Given the description of an element on the screen output the (x, y) to click on. 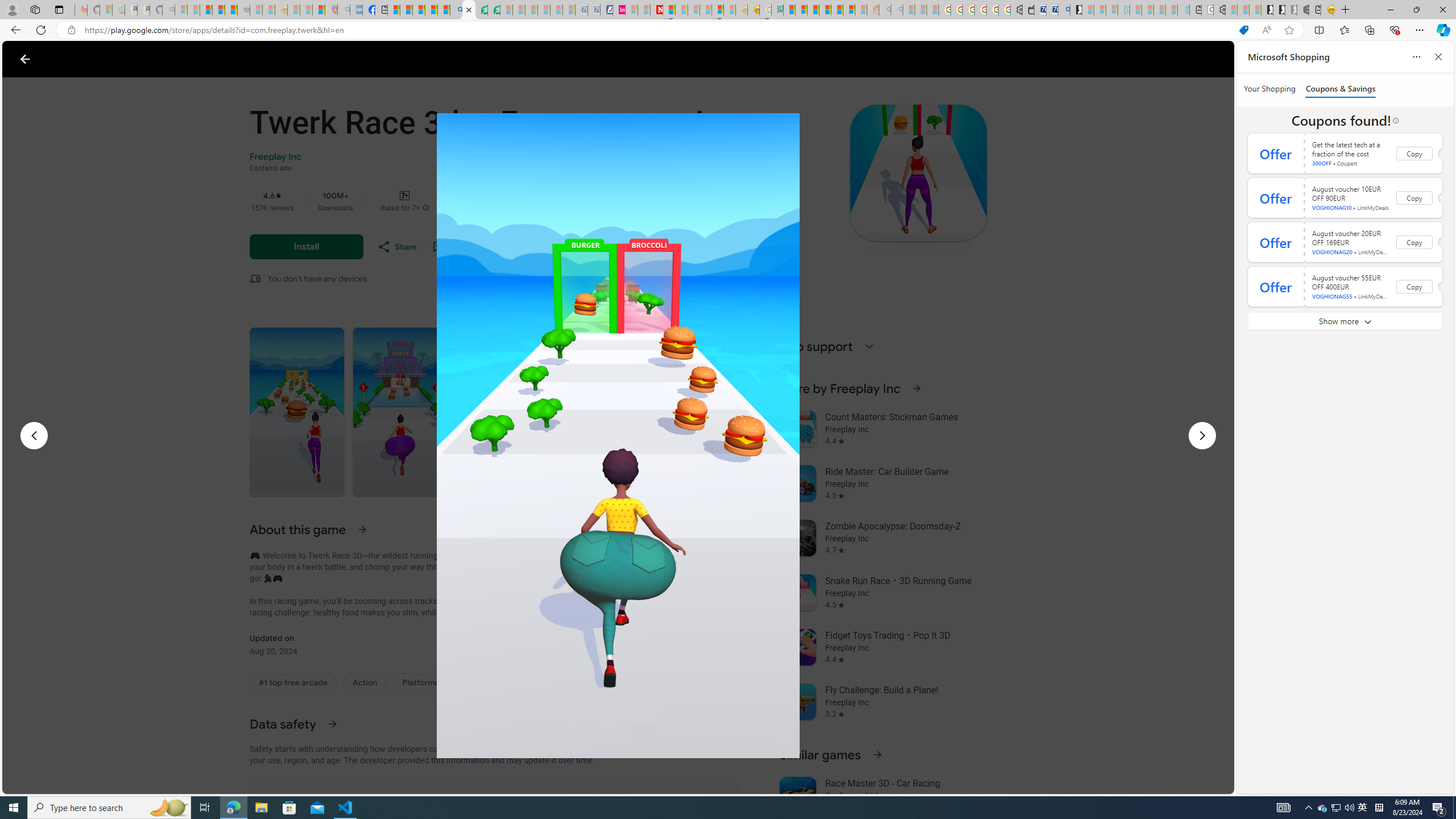
See more information on Data safety (332, 723)
Offline (659, 682)
Kinda Frugal - MSN (837, 9)
Expand (869, 346)
Platformer (422, 682)
